Given the description of an element on the screen output the (x, y) to click on. 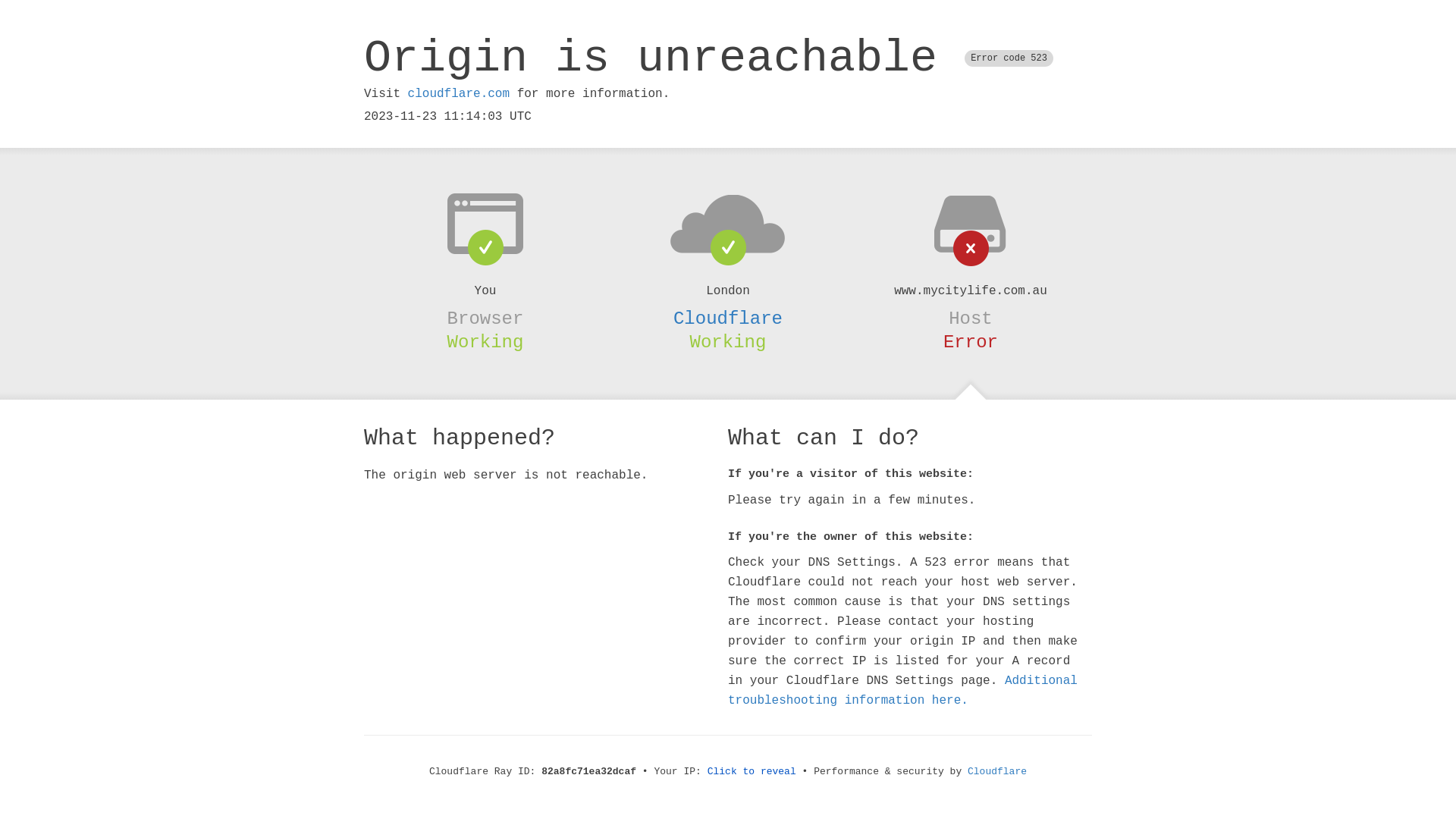
Additional troubleshooting information here. Element type: text (902, 690)
Cloudflare Element type: text (996, 771)
Cloudflare Element type: text (727, 318)
Click to reveal Element type: text (751, 771)
cloudflare.com Element type: text (458, 93)
